Given the description of an element on the screen output the (x, y) to click on. 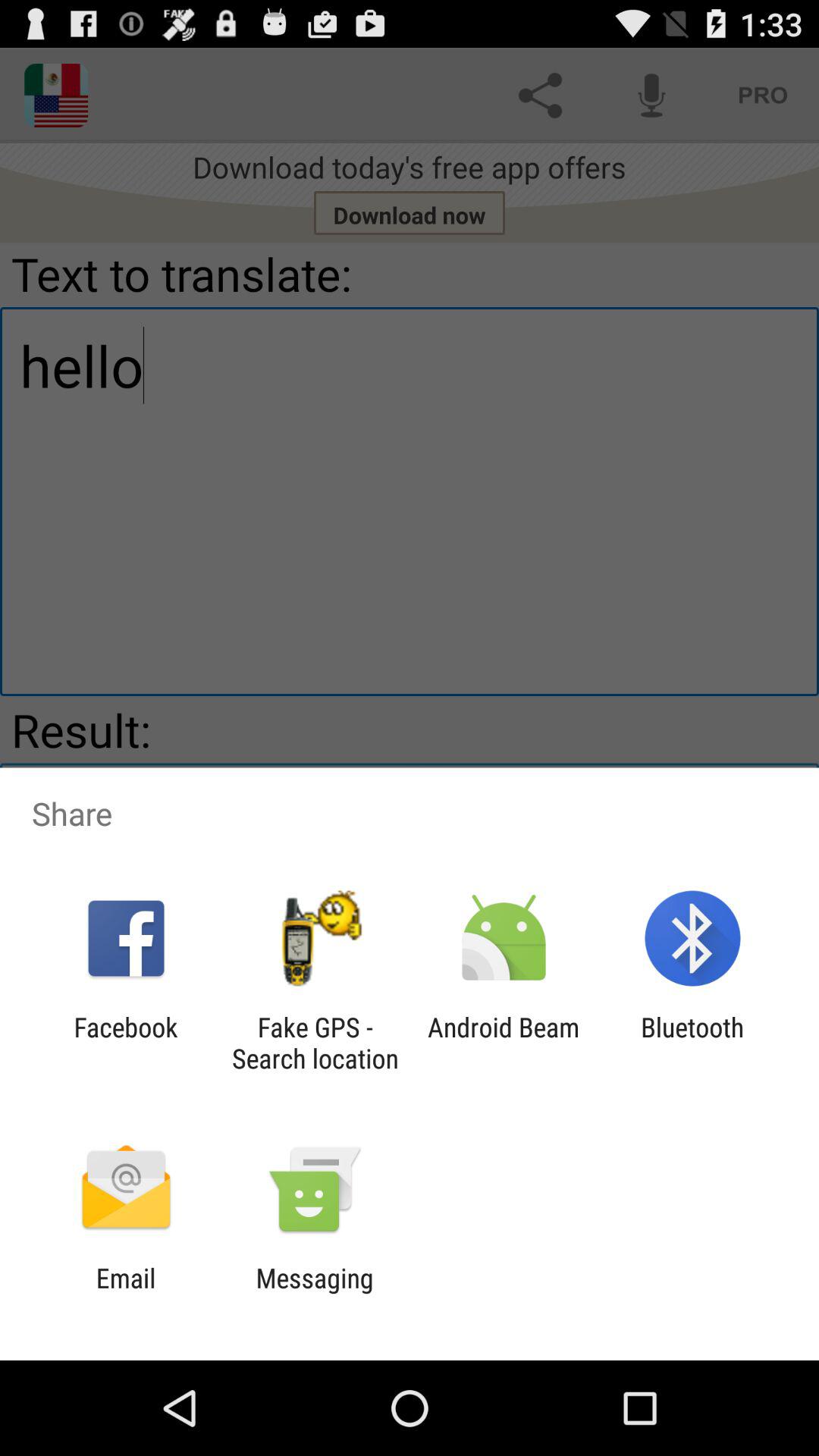
choose item to the right of the android beam icon (691, 1042)
